Given the description of an element on the screen output the (x, y) to click on. 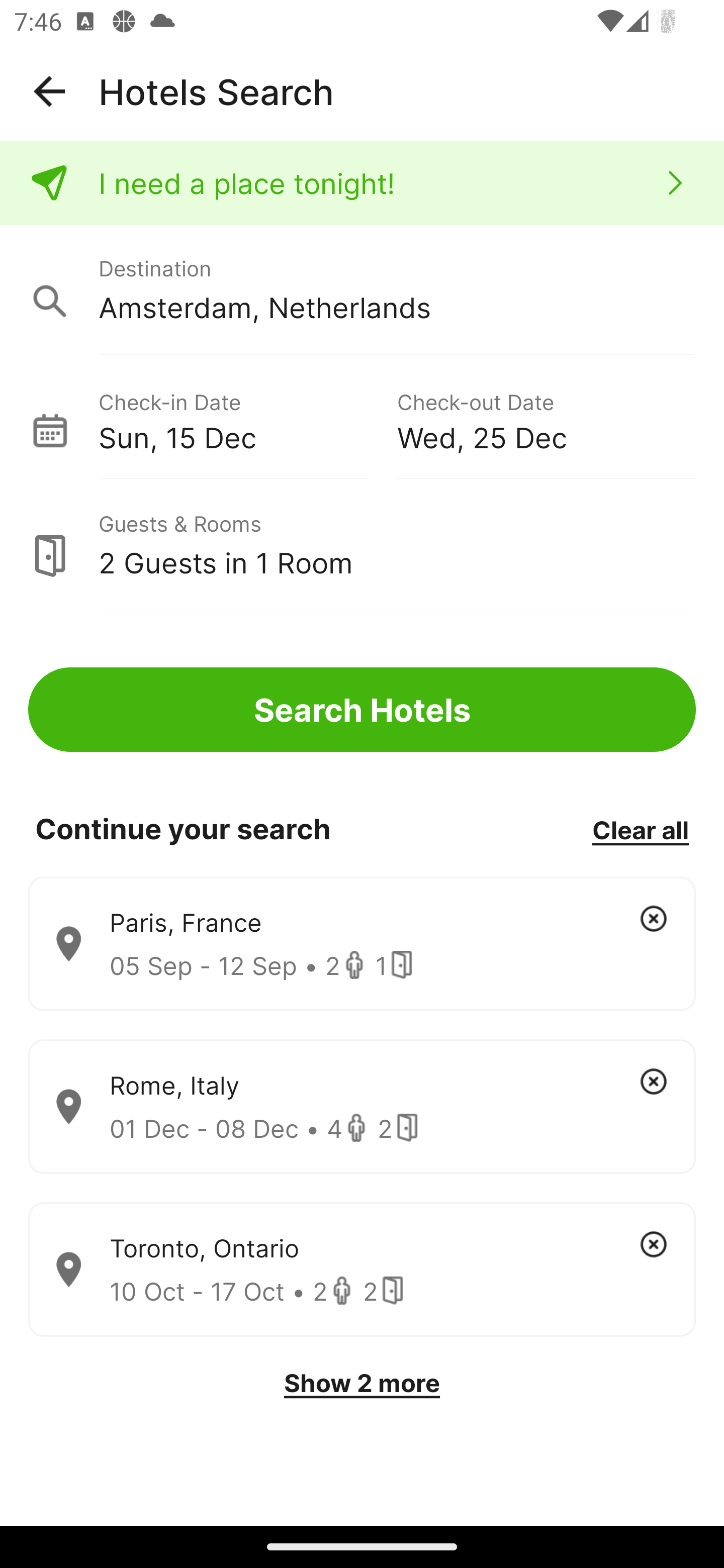
I need a place tonight! (362, 183)
Destination Amsterdam, Netherlands (362, 290)
Check-in Date Sun, 15 Dec (247, 418)
Check-out Date Wed, 25 Dec (546, 418)
Guests & Rooms 2 Guests in 1 Room (362, 545)
Search Hotels (361, 709)
Clear all (640, 829)
Paris, France 05 Sep - 12 Sep • 2  1  (361, 943)
Rome, Italy 01 Dec - 08 Dec • 4  2  (361, 1106)
Toronto, Ontario 10 Oct - 17 Oct • 2  2  (361, 1269)
Show 2 more (362, 1382)
